Given the description of an element on the screen output the (x, y) to click on. 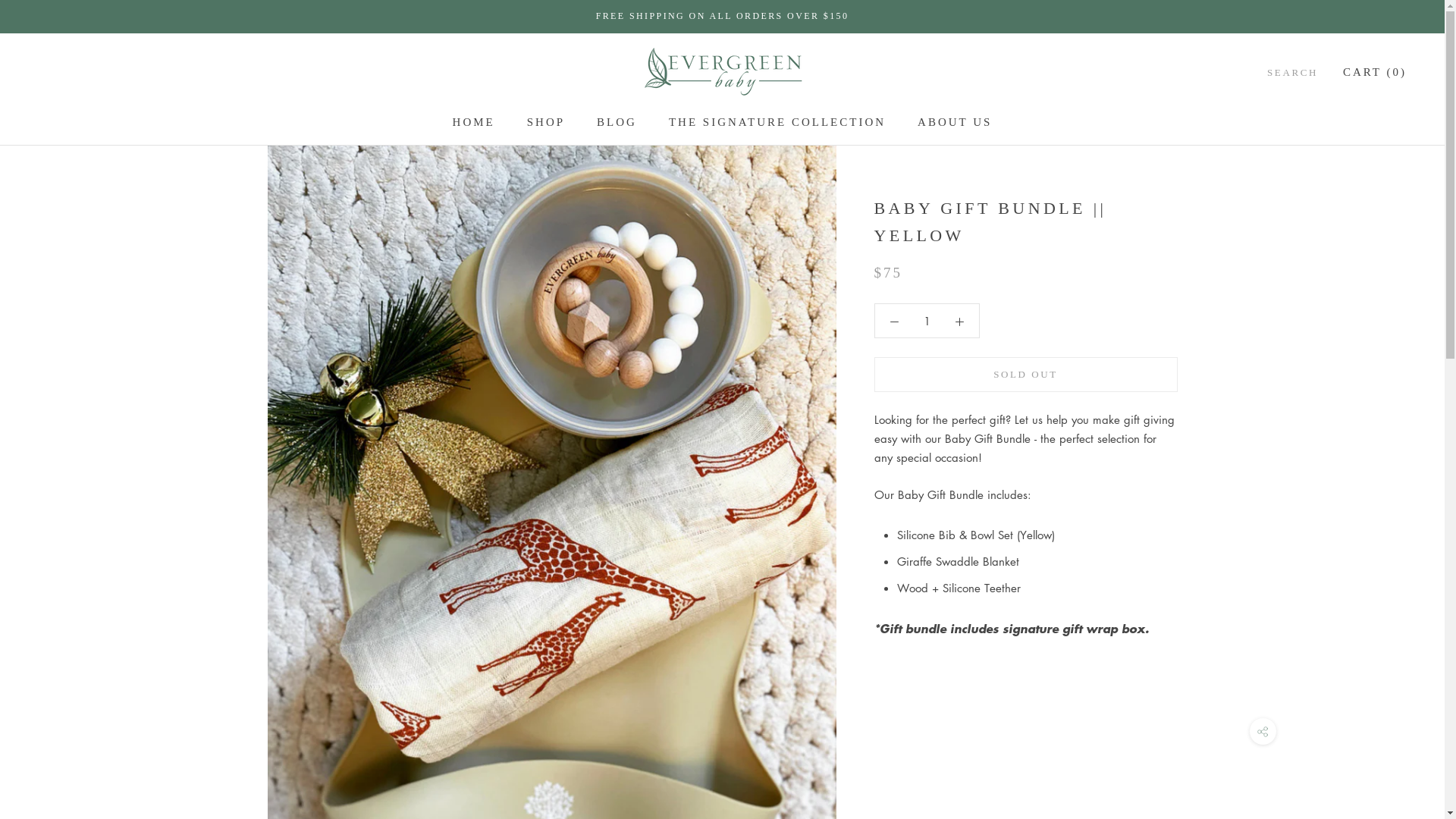
BLOG
BLOG Element type: text (616, 122)
SEARCH Element type: text (1292, 72)
HOME
HOME Element type: text (473, 122)
SHOP Element type: text (545, 122)
CART (0) Element type: text (1374, 71)
SOLD OUT Element type: text (1024, 374)
ABOUT US
ABOUT US Element type: text (954, 122)
THE SIGNATURE COLLECTION
THE SIGNATURE COLLECTION Element type: text (776, 122)
